Given the description of an element on the screen output the (x, y) to click on. 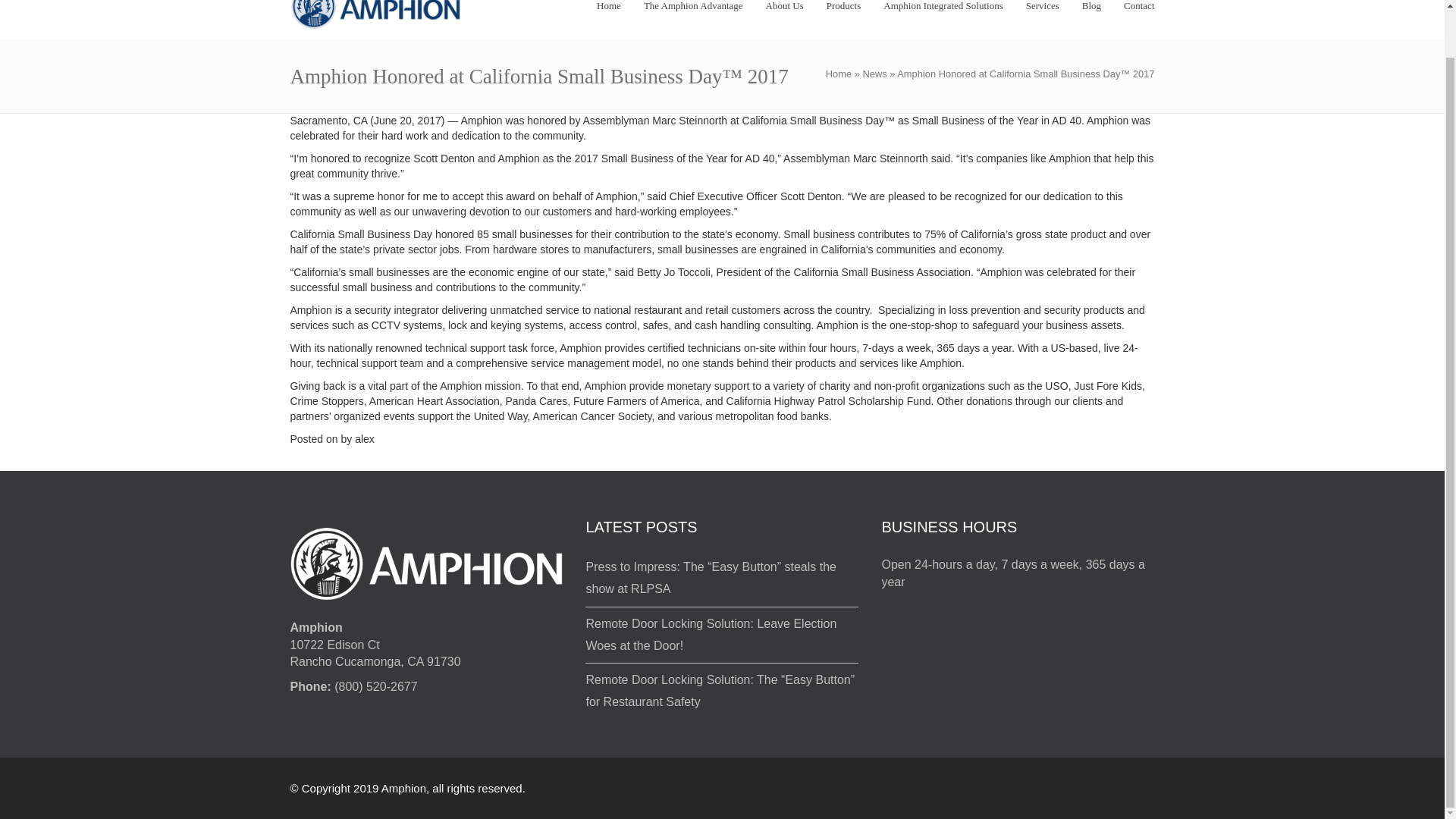
Services (1042, 9)
alex (364, 439)
Home (608, 9)
Products (844, 9)
About Us (784, 9)
The Amphion Advantage (692, 9)
Blog (1090, 9)
Amphion Integrated Solutions (943, 9)
Home (838, 73)
